Given the description of an element on the screen output the (x, y) to click on. 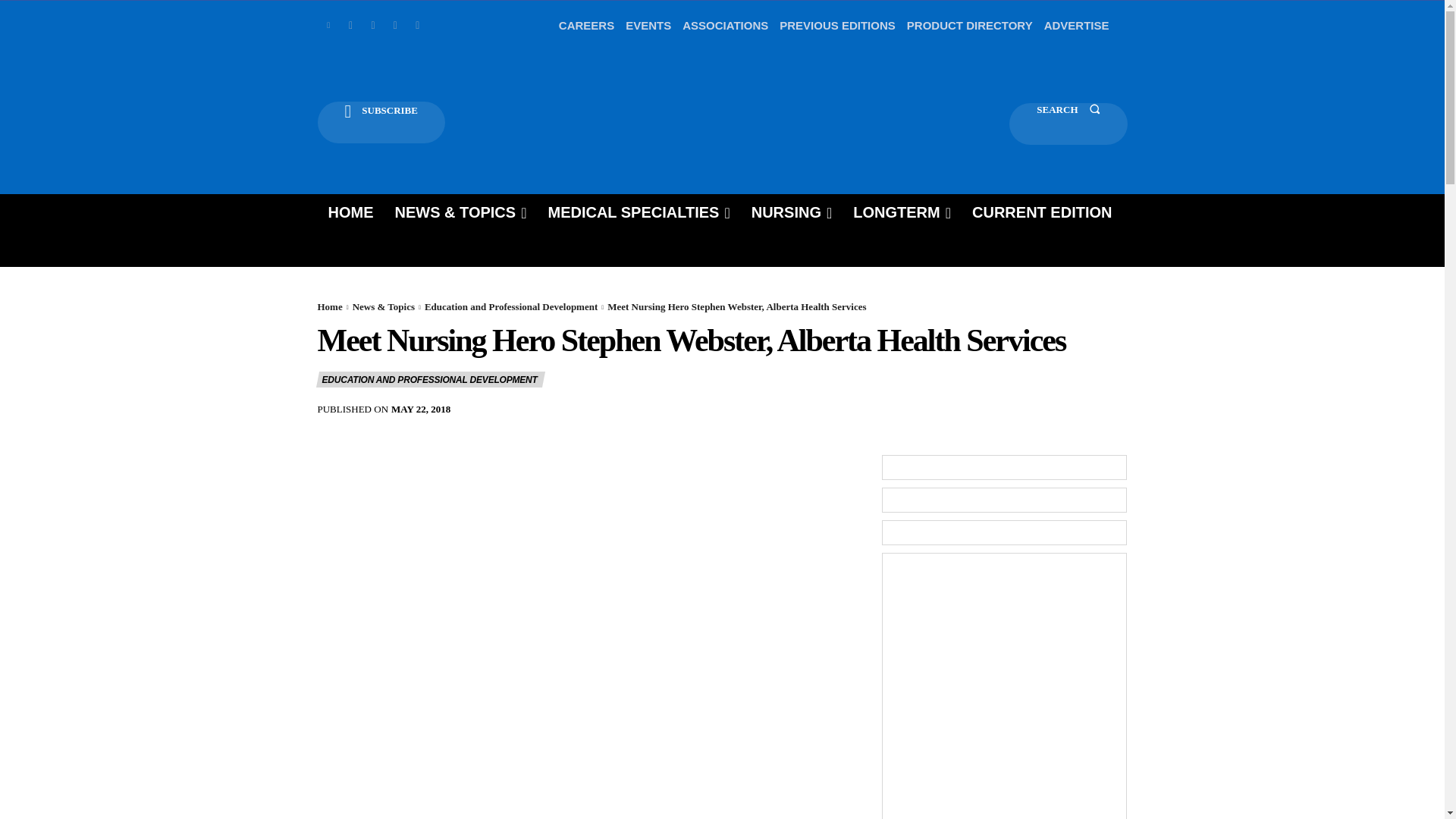
Mail-1 (417, 25)
ADVERTISE (1076, 25)
PRODUCT DIRECTORY (969, 25)
EVENTS (648, 25)
PREVIOUS EDITIONS (836, 25)
Subscribe (380, 122)
Linkedin (328, 25)
Twitter (350, 25)
ASSOCIATIONS (725, 25)
CAREERS (586, 25)
Facebook (372, 25)
Instagram (395, 25)
